Given the description of an element on the screen output the (x, y) to click on. 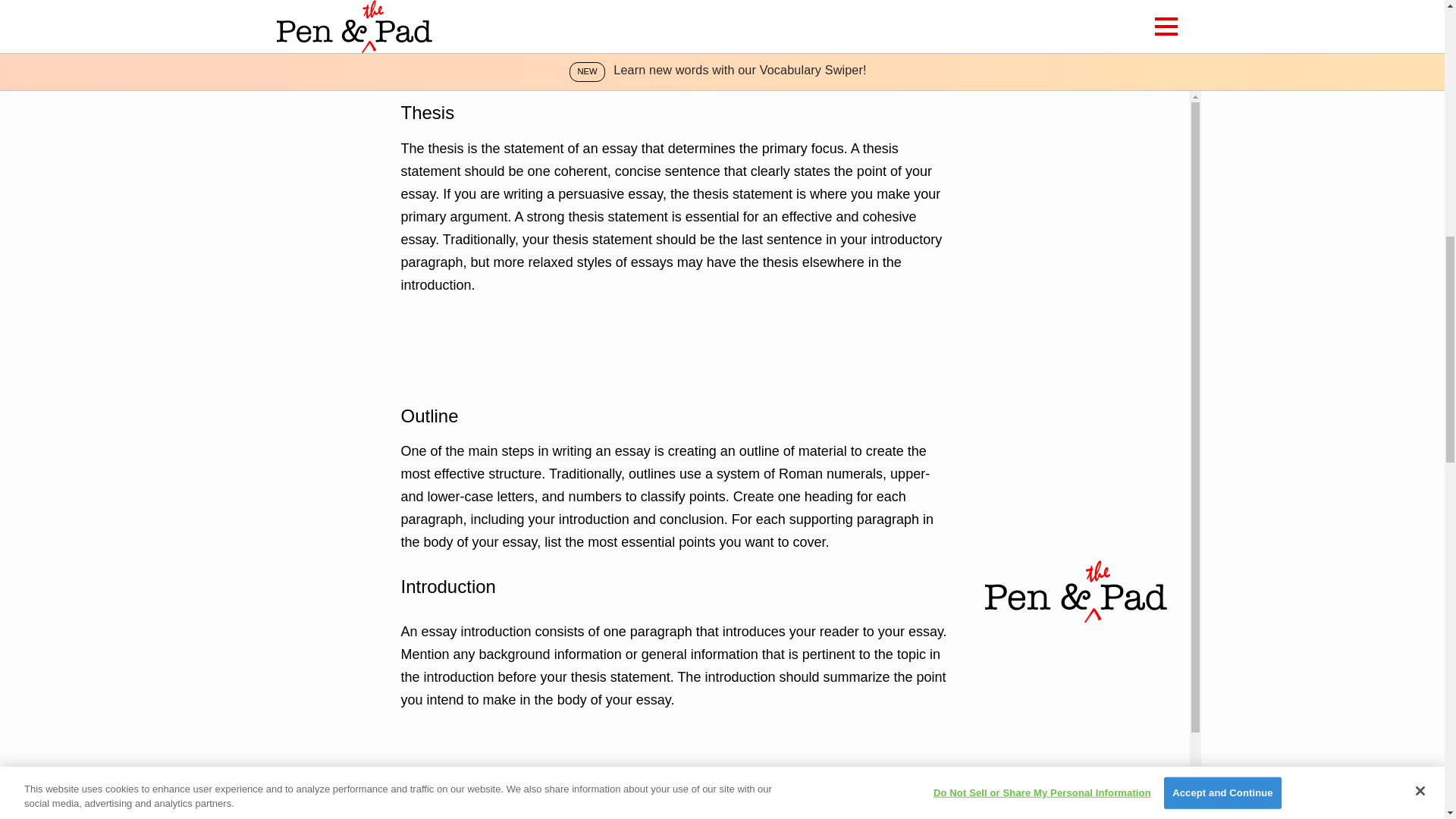
3rd party ad content (676, 348)
Advertisement (676, 39)
3rd party ad content (676, 774)
